Given the description of an element on the screen output the (x, y) to click on. 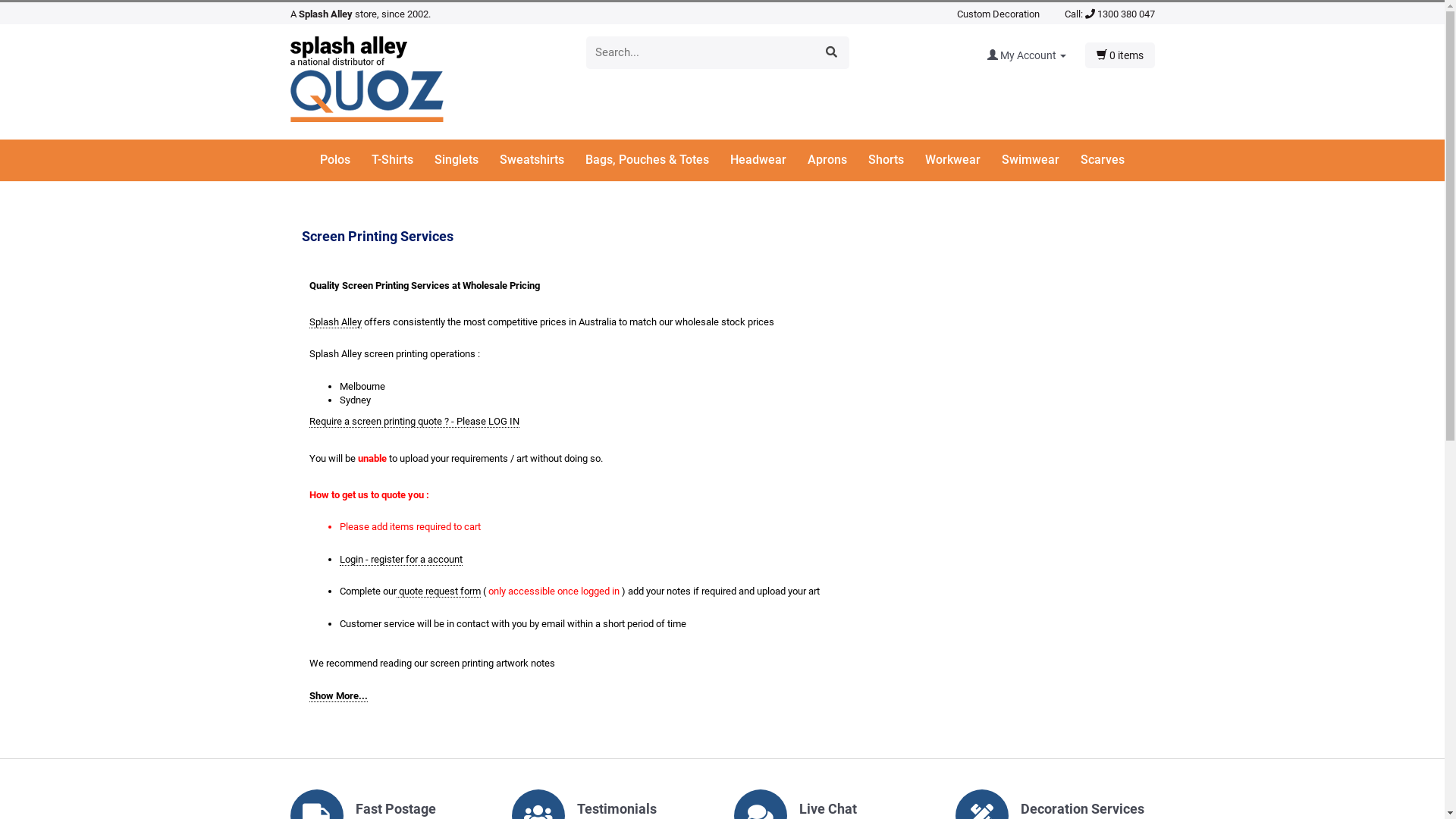
Login - register for a account Element type: text (400, 559)
Shorts Element type: text (895, 160)
Custom Decoration Element type: text (998, 13)
Polos Element type: text (344, 160)
Scarves Element type: text (1102, 160)
Sweatshirts Element type: text (540, 160)
T-Shirts Element type: text (401, 160)
Aprons Element type: text (836, 160)
Headwear Element type: text (767, 160)
My Account Element type: text (1036, 54)
quote request form Element type: text (437, 591)
Show More... Element type: text (338, 696)
Workwear Element type: text (961, 160)
Singlets Element type: text (465, 160)
Bags, Pouches & Totes Element type: text (656, 160)
Require a screen printing quote ? - Please LOG IN Element type: text (414, 421)
Swimwear Element type: text (1039, 160)
Splash Alley Element type: text (335, 322)
1300 380 047 Element type: text (1119, 13)
